Given the description of an element on the screen output the (x, y) to click on. 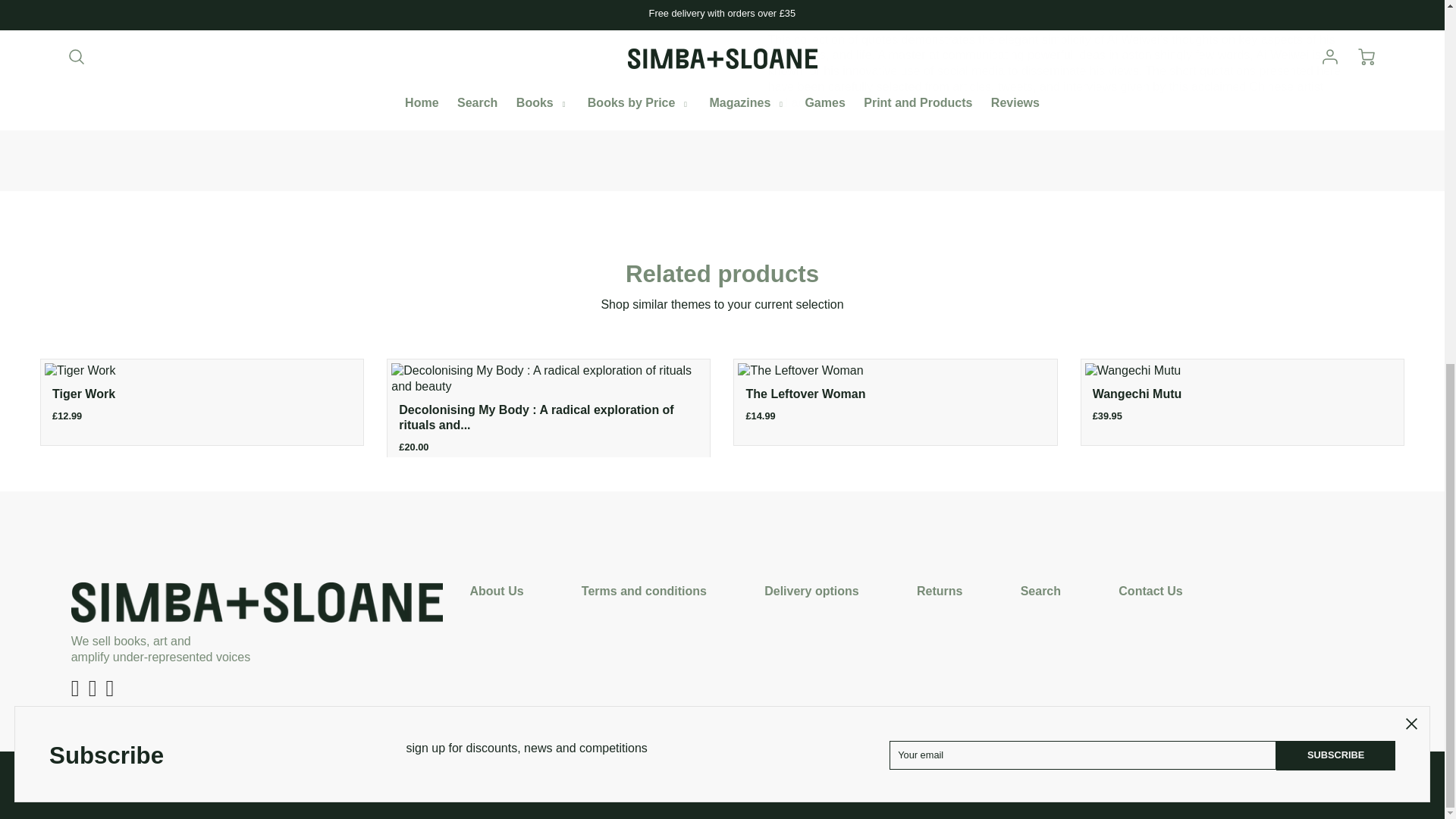
PayPal (785, 783)
Visa (818, 783)
Diners Club (657, 783)
Discover (689, 783)
American Express (625, 783)
Maestro (721, 783)
Mastercard (753, 783)
